Given the description of an element on the screen output the (x, y) to click on. 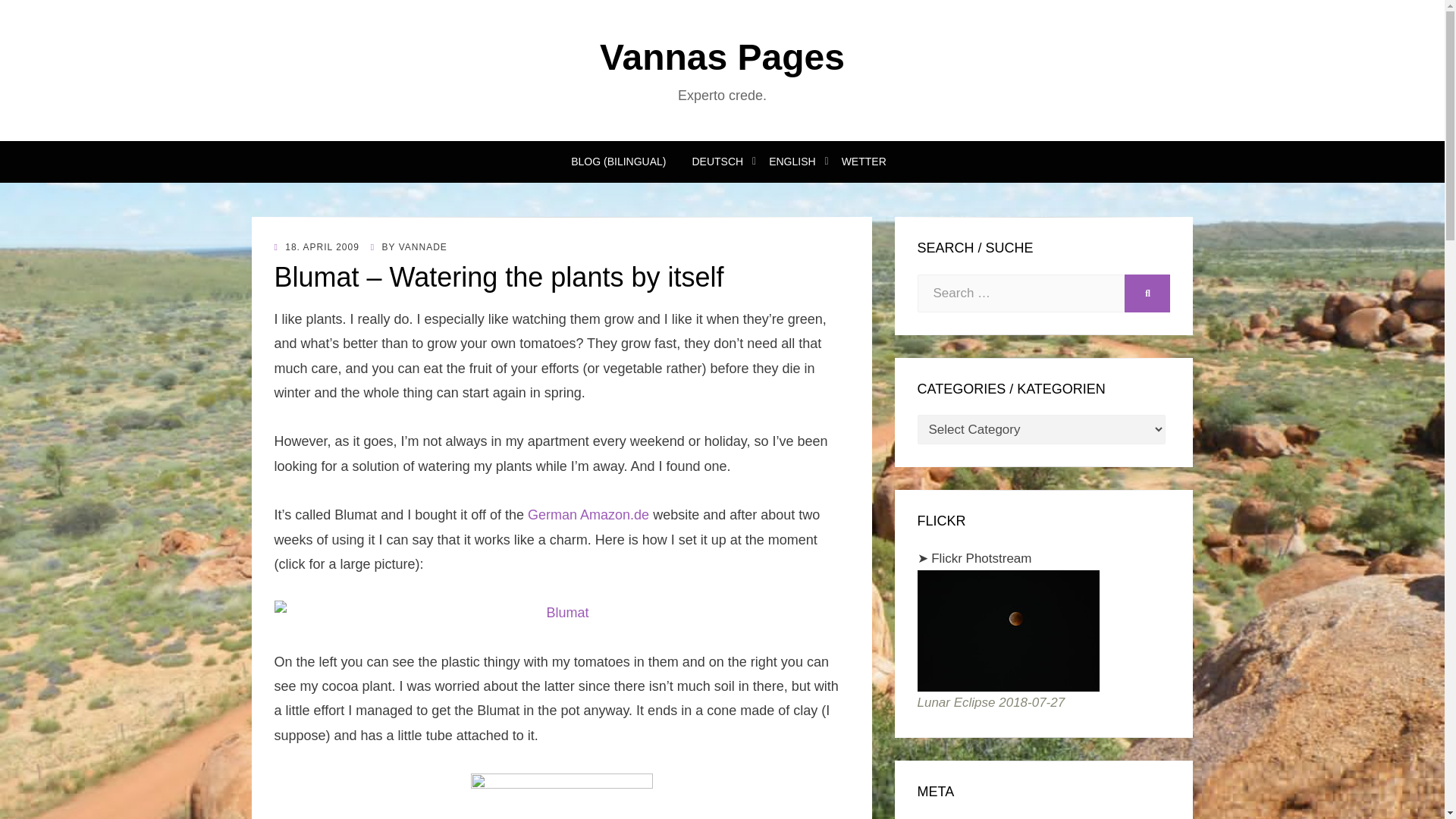
Search for: (1021, 293)
ENGLISH (791, 161)
DEUTSCH (718, 161)
Vannas Pages (721, 56)
Vannas Pages (721, 56)
Lunar Eclipse 2018-07-27 (1008, 630)
VANNADE (422, 246)
Flickr Photostream (980, 558)
blumat (561, 612)
18. APRIL 2009 (317, 246)
